Given the description of an element on the screen output the (x, y) to click on. 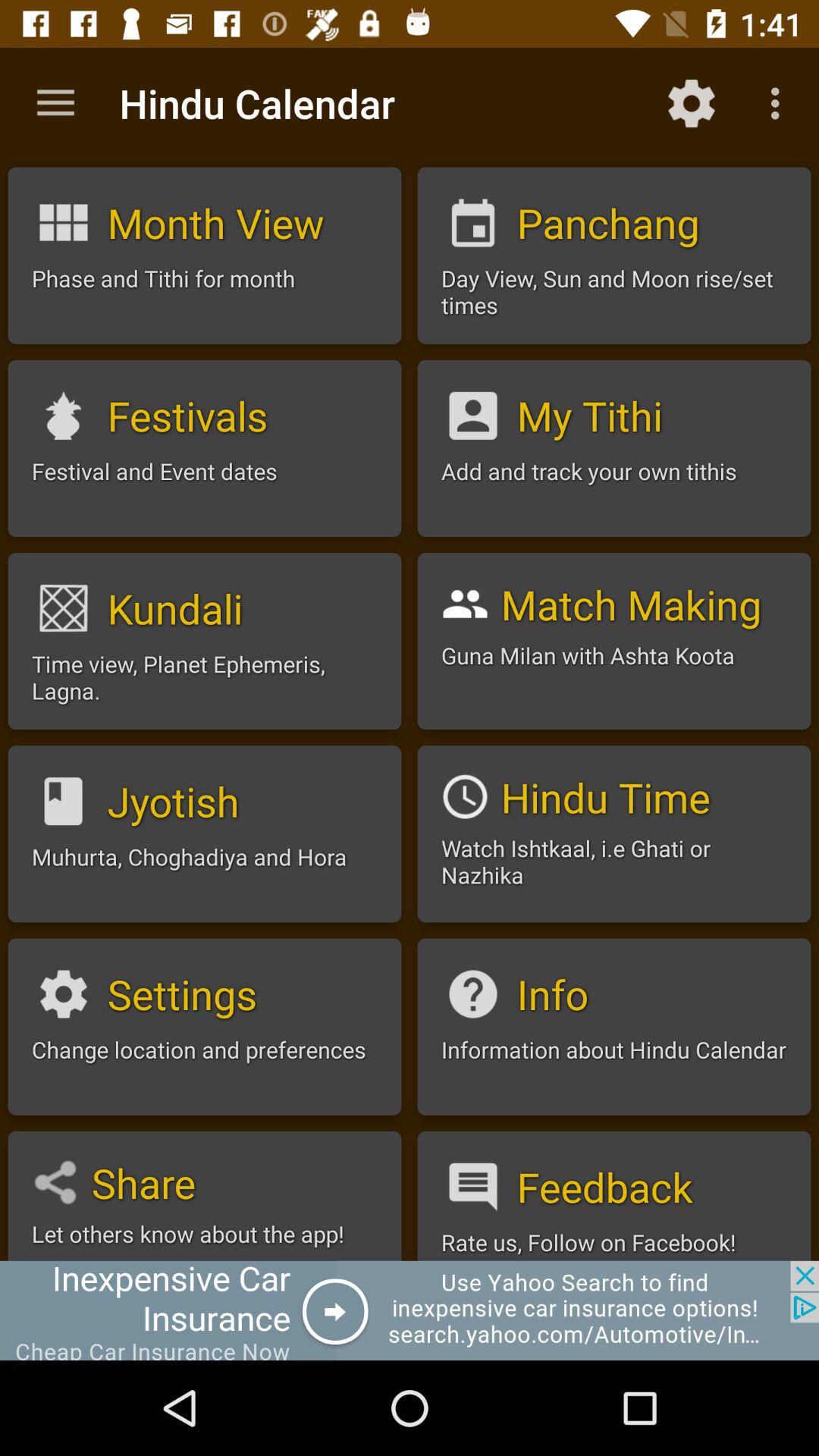
advertisement (409, 1310)
